Given the description of an element on the screen output the (x, y) to click on. 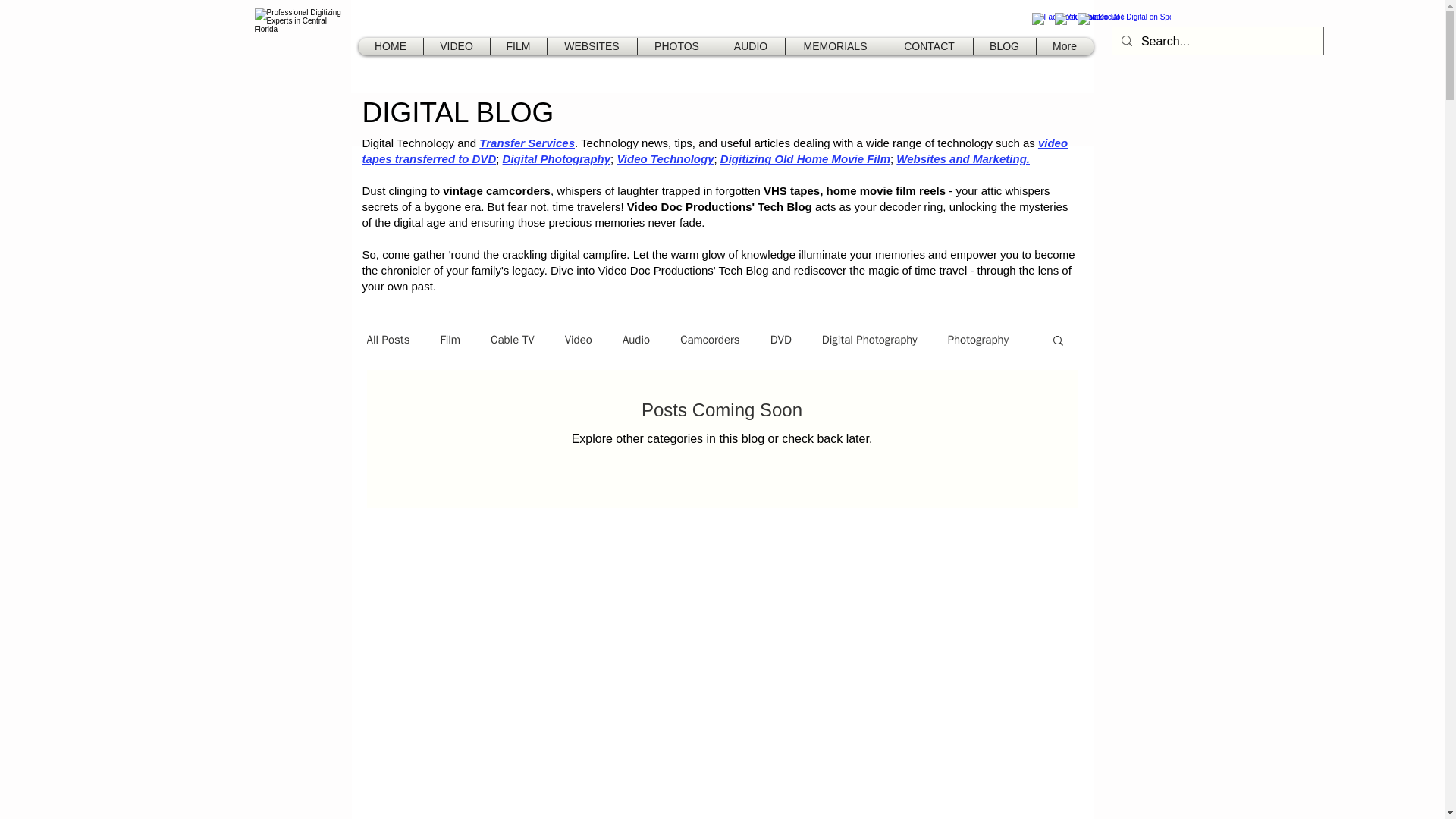
Digitize video, audio, film, an more (302, 46)
VIDEO (457, 46)
AUDIO (750, 46)
PHOTOS (677, 46)
HOME (390, 46)
WEBSITES (590, 46)
FILM (519, 46)
